Given the description of an element on the screen output the (x, y) to click on. 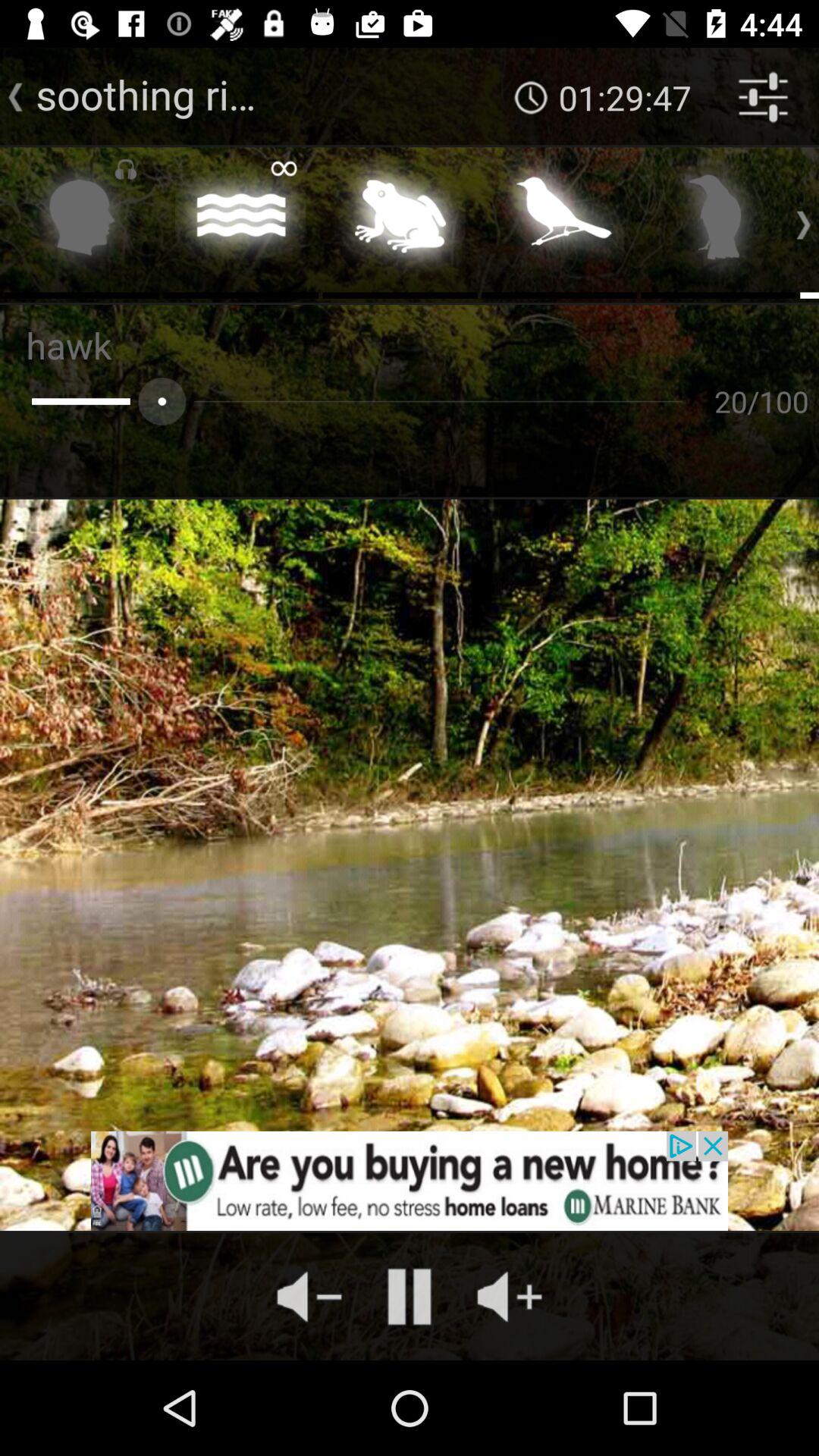
place a bird (559, 221)
